Given the description of an element on the screen output the (x, y) to click on. 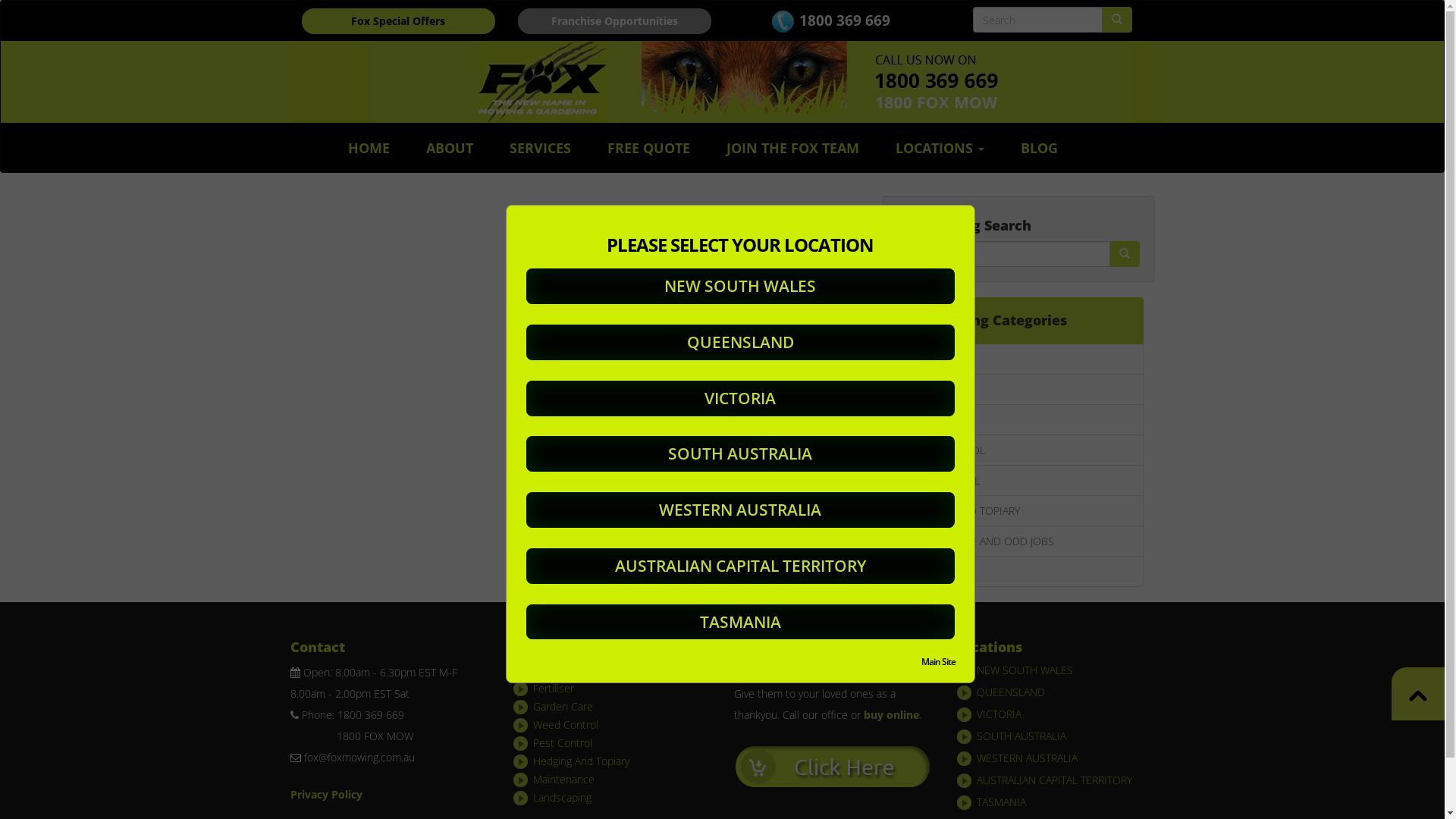
SOUTH AUSTRALIA Element type: text (1021, 735)
JOIN THE FOX TEAM Element type: text (792, 147)
PEST CONTROL Element type: text (1018, 479)
SERVICES Element type: text (540, 147)
Weed Control Element type: text (565, 724)
Pest Control Element type: text (562, 742)
GARDEN CARE Element type: text (1018, 419)
WEED CONTROL Element type: text (1018, 449)
HOME Element type: text (368, 147)
Fox Mowing Categories Element type: text (1018, 320)
LOCATIONS Element type: text (939, 147)
Privacy Policy Element type: text (325, 794)
LAWN CARE Element type: text (1018, 358)
MAINTENANCE AND ODD JOBS Element type: text (1018, 540)
NEW SOUTH WALES Element type: text (1024, 669)
Fertiliser Element type: text (553, 687)
TASMANIA Element type: text (1001, 801)
BLOG Element type: text (1039, 147)
FERTILISER Element type: text (1018, 388)
QUEENSLAND Element type: text (1010, 691)
Fox Special Offers Element type: text (398, 21)
   Element type: hover (1123, 253)
Garden Care Element type: text (563, 706)
HEDGING AND TOPIARY Element type: text (1018, 510)
Franchise Opportunities Element type: text (613, 21)
Foxmowing Element type: hover (721, 81)
FREE QUOTE Element type: text (648, 147)
WESTERN AUSTRALIA Element type: text (1026, 757)
ABOUT Element type: text (449, 147)
Foxmowing Element type: hover (832, 765)
Maintenance Element type: text (563, 778)
AUSTRALIAN CAPITAL TERRITORY Element type: text (1054, 779)
VICTORIA Element type: text (998, 713)
Hedging And Topiary Element type: text (581, 760)
buy online Element type: text (890, 714)
LANDSCAPING Element type: text (1018, 570)
Landscaping Element type: text (562, 797)
Foxmowing Element type: hover (1417, 693)
Lawn Care Element type: text (557, 669)
